Given the description of an element on the screen output the (x, y) to click on. 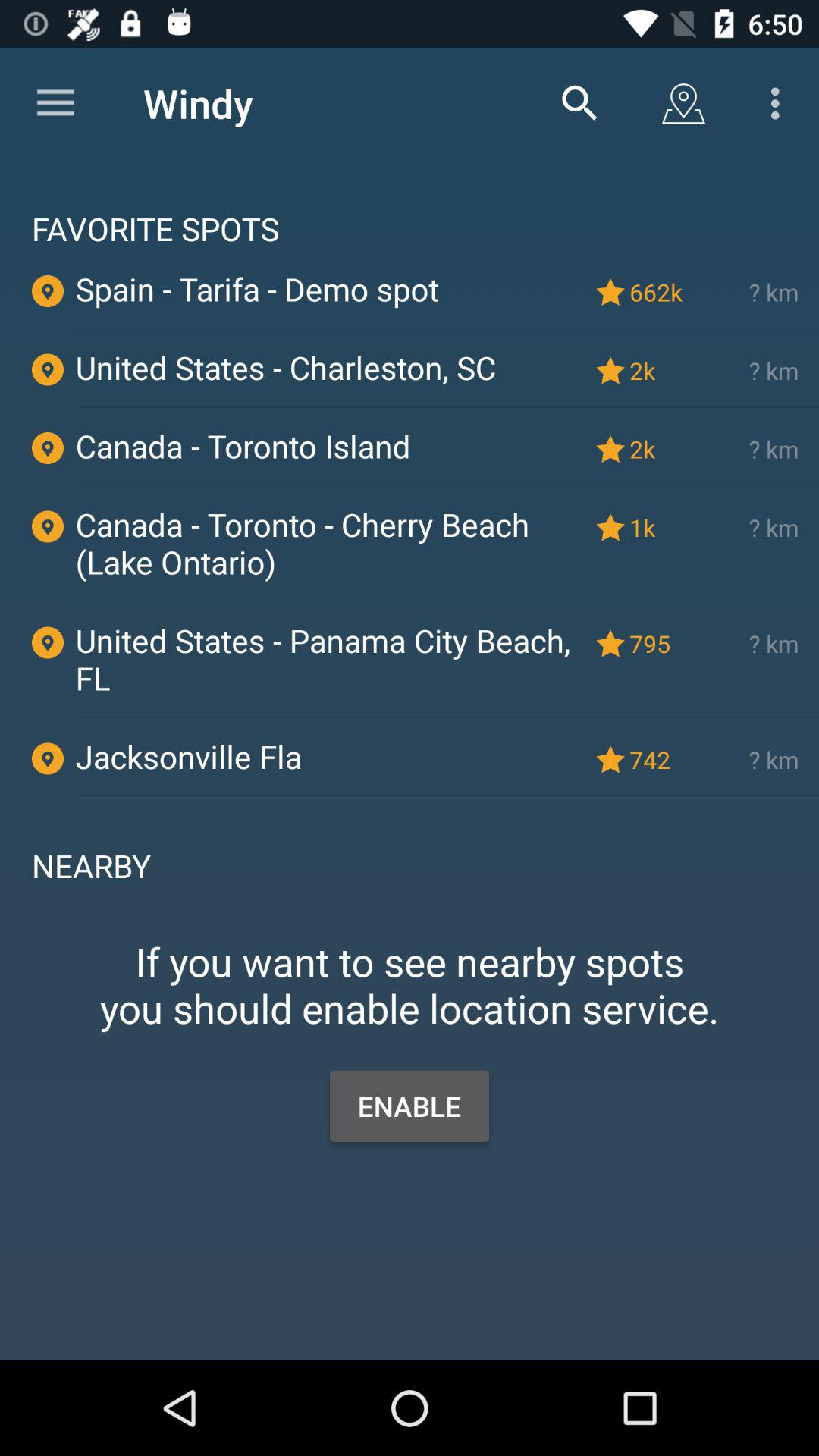
launch the item above favorite spots icon (579, 103)
